Given the description of an element on the screen output the (x, y) to click on. 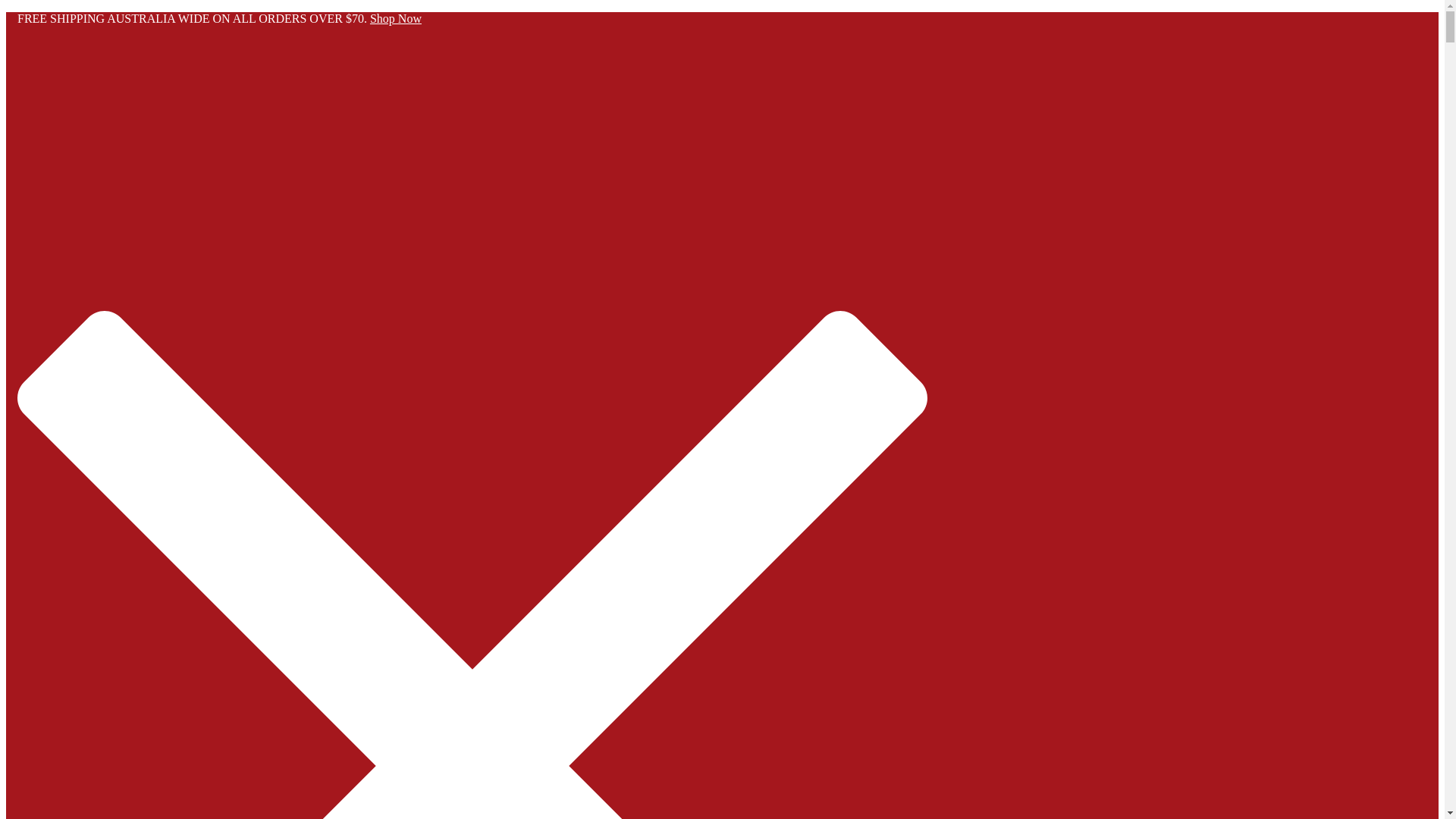
Shop Now Element type: text (395, 18)
